Given the description of an element on the screen output the (x, y) to click on. 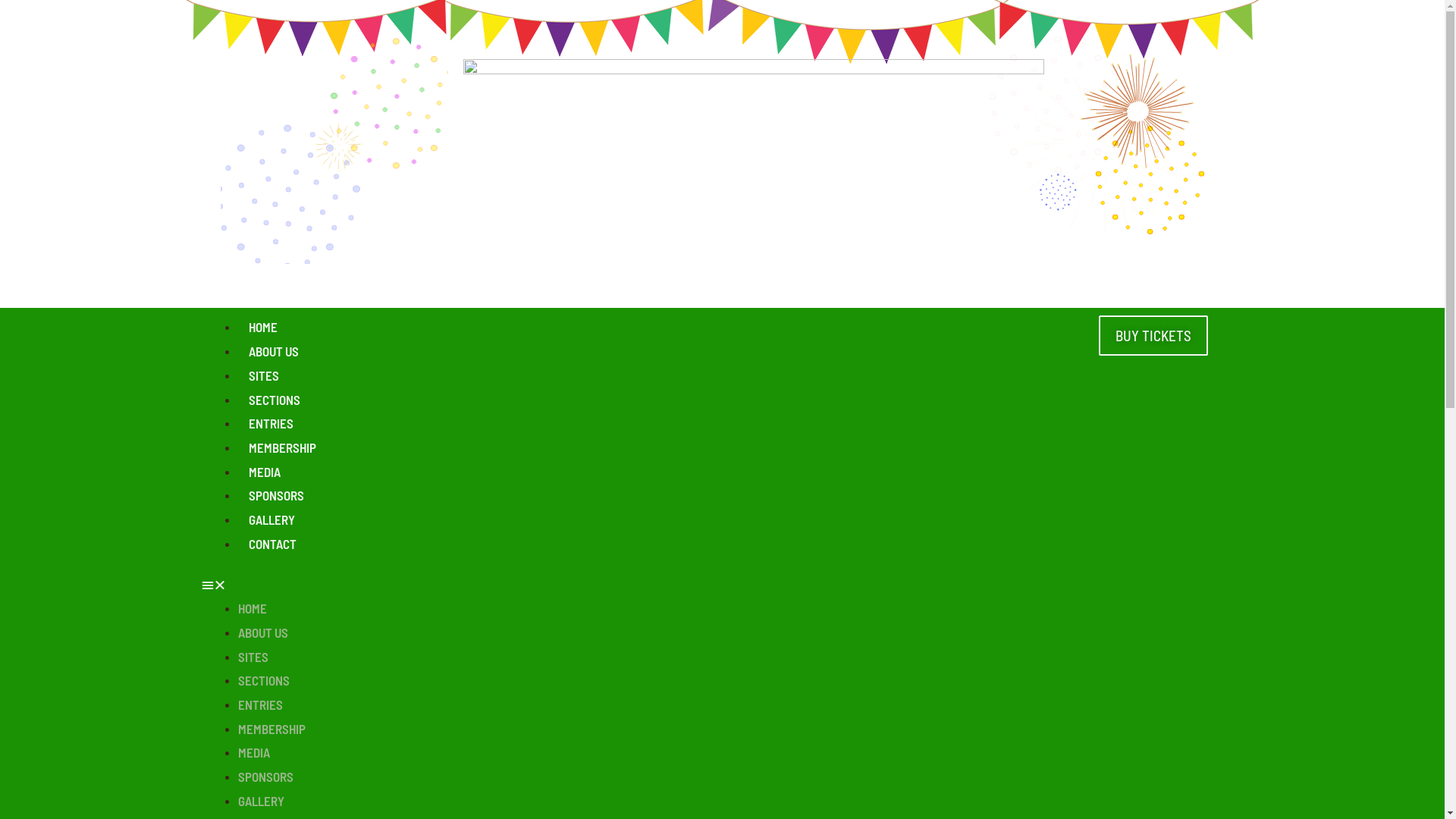
Instagram Element type: text (1049, 585)
MEMBERSHIP Element type: text (282, 447)
ENTRIES Element type: text (260, 704)
CONTACT Element type: text (272, 543)
SITES Element type: text (253, 656)
SPONSORS Element type: text (276, 494)
GALLERY Element type: text (261, 800)
HOME Element type: text (263, 326)
HOME Element type: text (252, 607)
ABOUT US Element type: text (273, 350)
SPONSORS Element type: text (265, 776)
ABOUT US Element type: text (263, 632)
GALLERY Element type: text (271, 519)
MEDIA Element type: text (264, 471)
MEMBERSHIP Element type: text (271, 728)
SITES Element type: text (263, 374)
ENTRIES Element type: text (271, 422)
MEDIA Element type: text (253, 751)
SECTIONS Element type: text (263, 679)
SECTIONS Element type: text (274, 398)
BUY TICKETS Element type: text (1153, 335)
Facebook Element type: text (1023, 585)
